Given the description of an element on the screen output the (x, y) to click on. 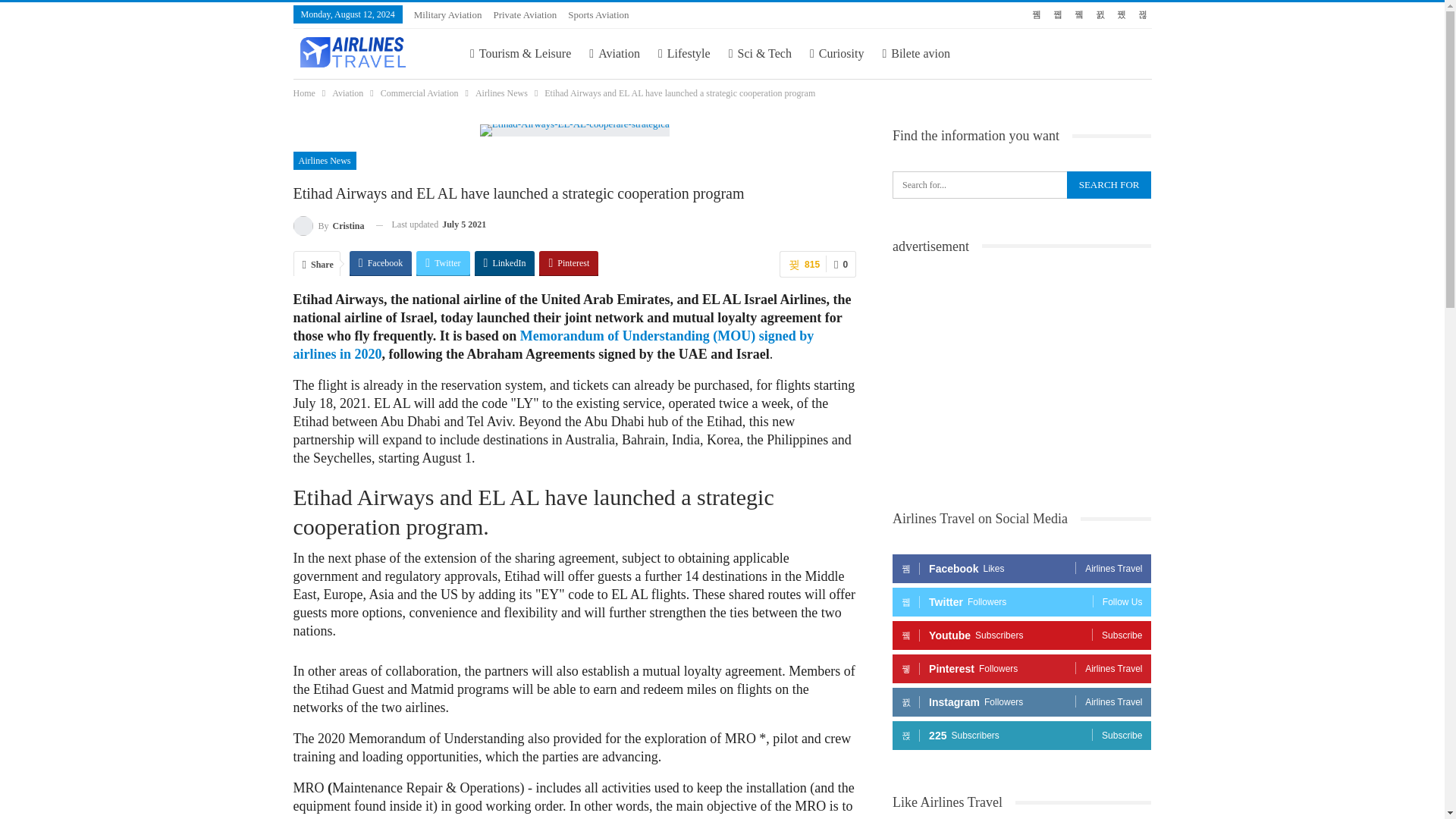
Home (303, 93)
Aviation (346, 93)
Aviation (614, 53)
Twitter (442, 262)
By Cristina (328, 224)
Airlines News (501, 93)
Search for (1109, 185)
Facebook (380, 262)
LinkedIn (504, 262)
